Given the description of an element on the screen output the (x, y) to click on. 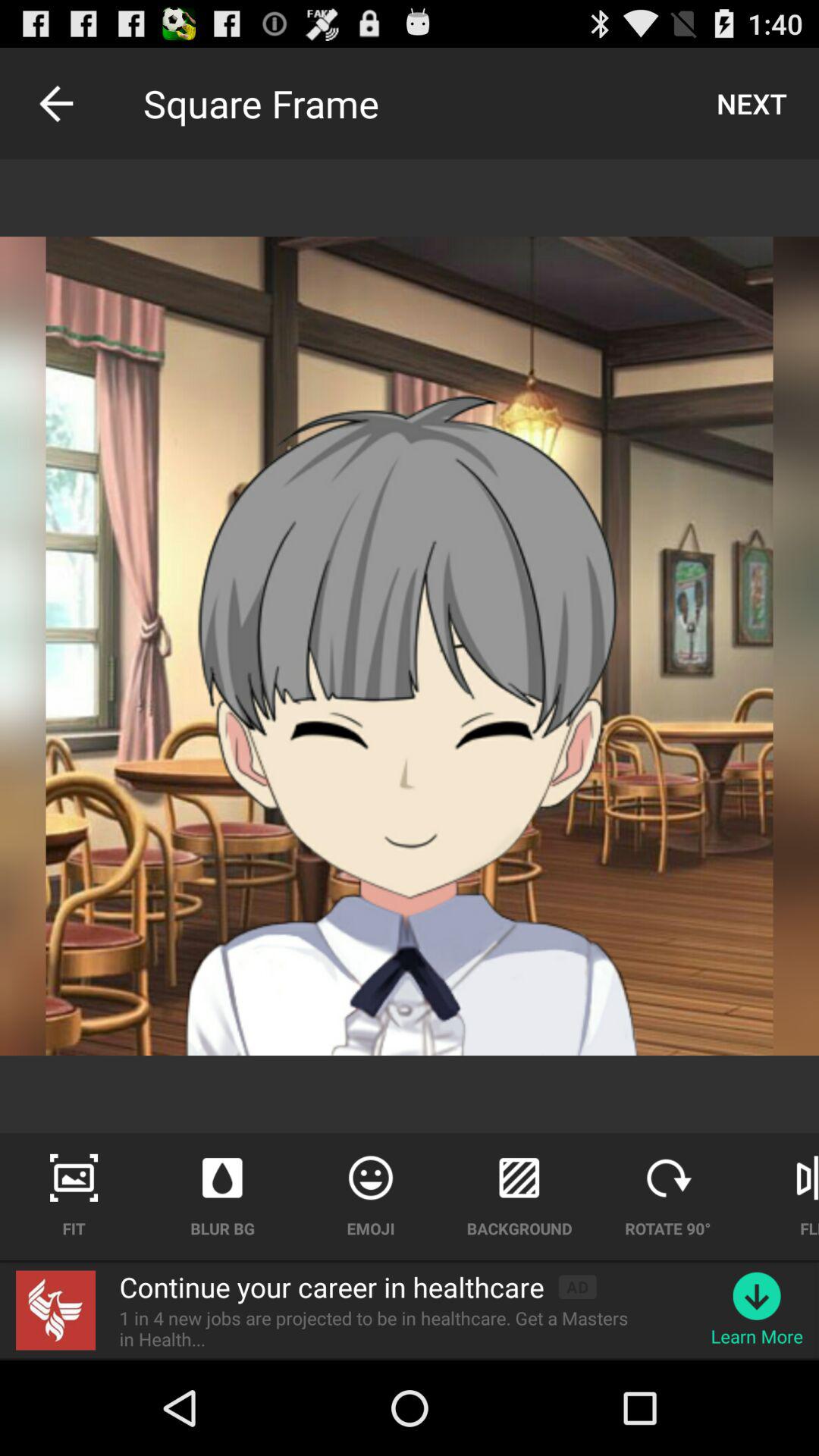
turn on the item above learn more (756, 1296)
